Given the description of an element on the screen output the (x, y) to click on. 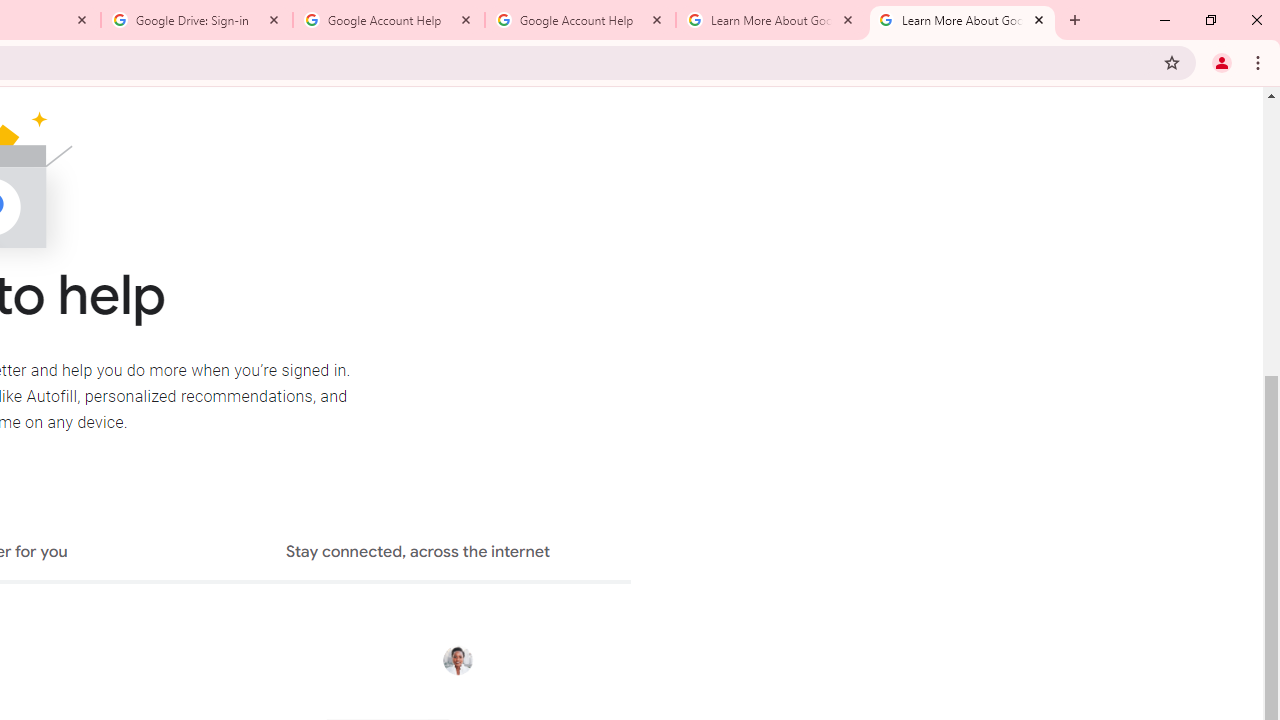
Google Account Help (580, 20)
Stay connected, across the internet (417, 553)
Google Drive: Sign-in (197, 20)
Google Account Help (389, 20)
